Given the description of an element on the screen output the (x, y) to click on. 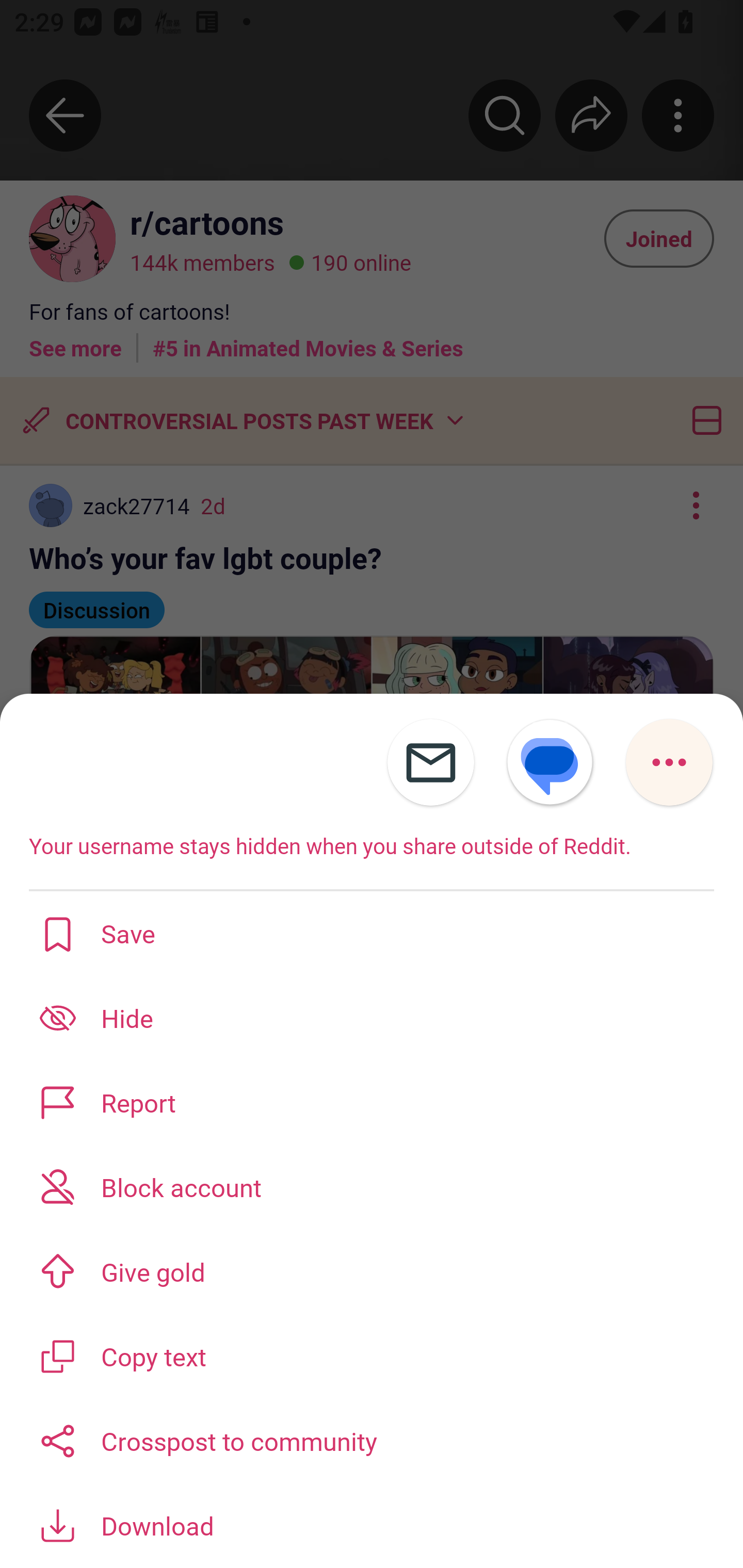
Email (430, 762)
SMS (549, 762)
More (668, 762)
Save (371, 932)
Hide (371, 1017)
Report (371, 1101)
Block account (371, 1186)
Give gold (371, 1271)
Copy text (371, 1355)
Crosspost to community (371, 1439)
Download (371, 1524)
